Given the description of an element on the screen output the (x, y) to click on. 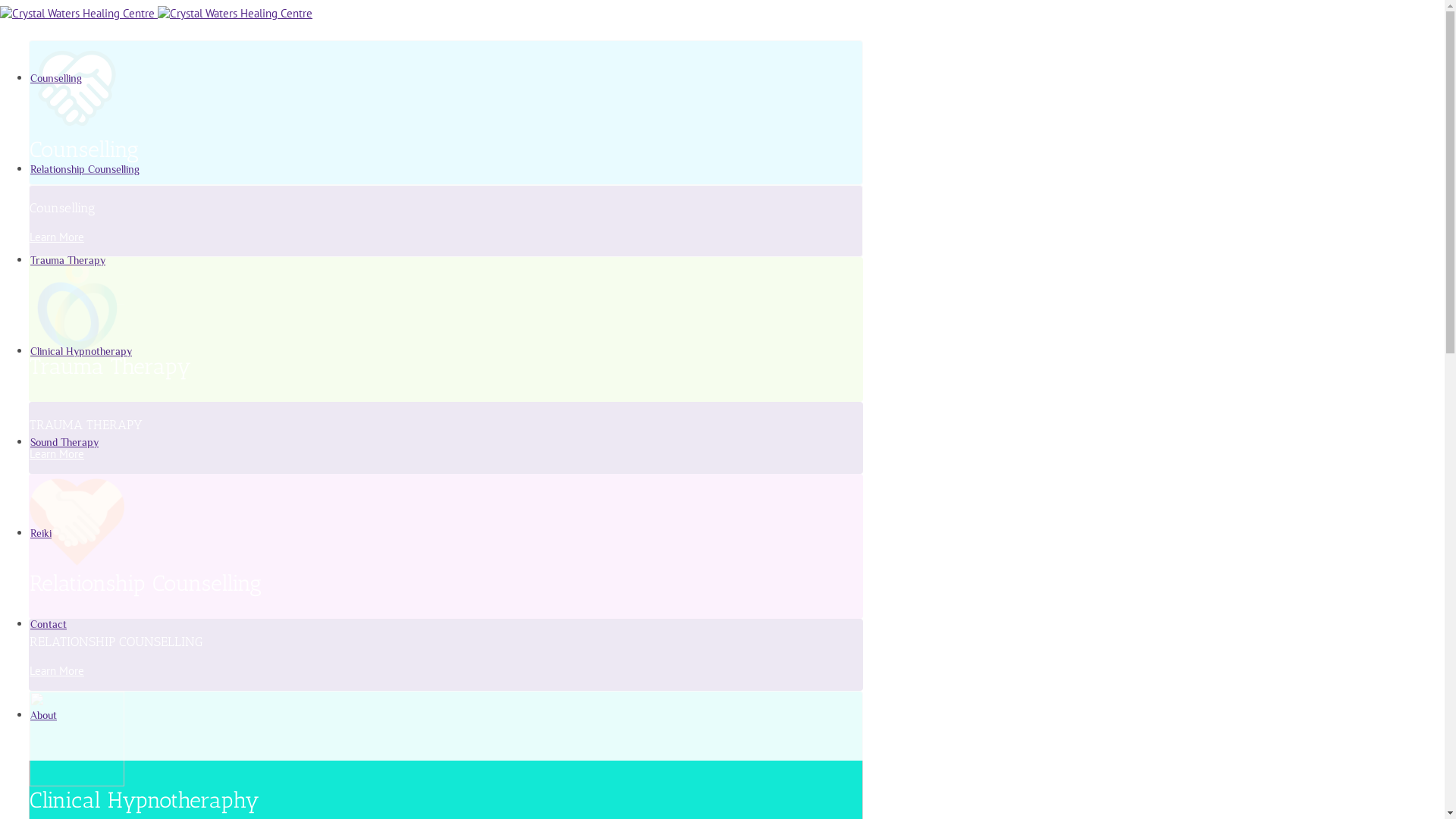
Reiki Element type: text (40, 531)
Counselling Element type: text (55, 76)
Sound Therapy Element type: text (64, 440)
Relationship Counselling Element type: text (84, 167)
Learn More Element type: text (56, 453)
Contact Element type: text (48, 622)
Learn More Element type: text (56, 670)
Learn More Element type: text (56, 236)
About Element type: text (43, 713)
Clinical Hypnotherapy Element type: text (80, 349)
Trauma Therapy Element type: text (67, 258)
